Given the description of an element on the screen output the (x, y) to click on. 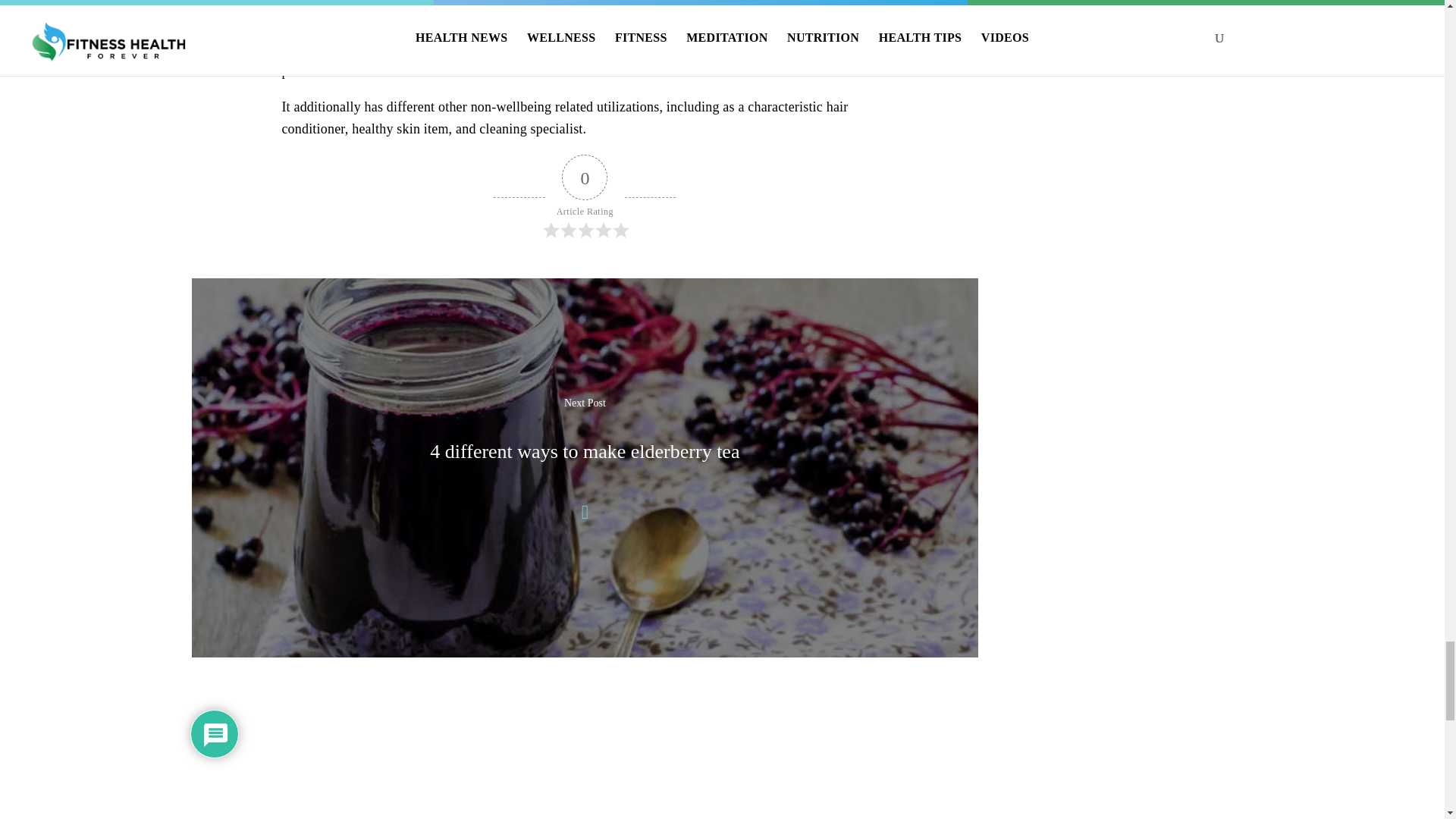
4 different ways to make elderberry tea (584, 452)
Next Post (584, 403)
